Given the description of an element on the screen output the (x, y) to click on. 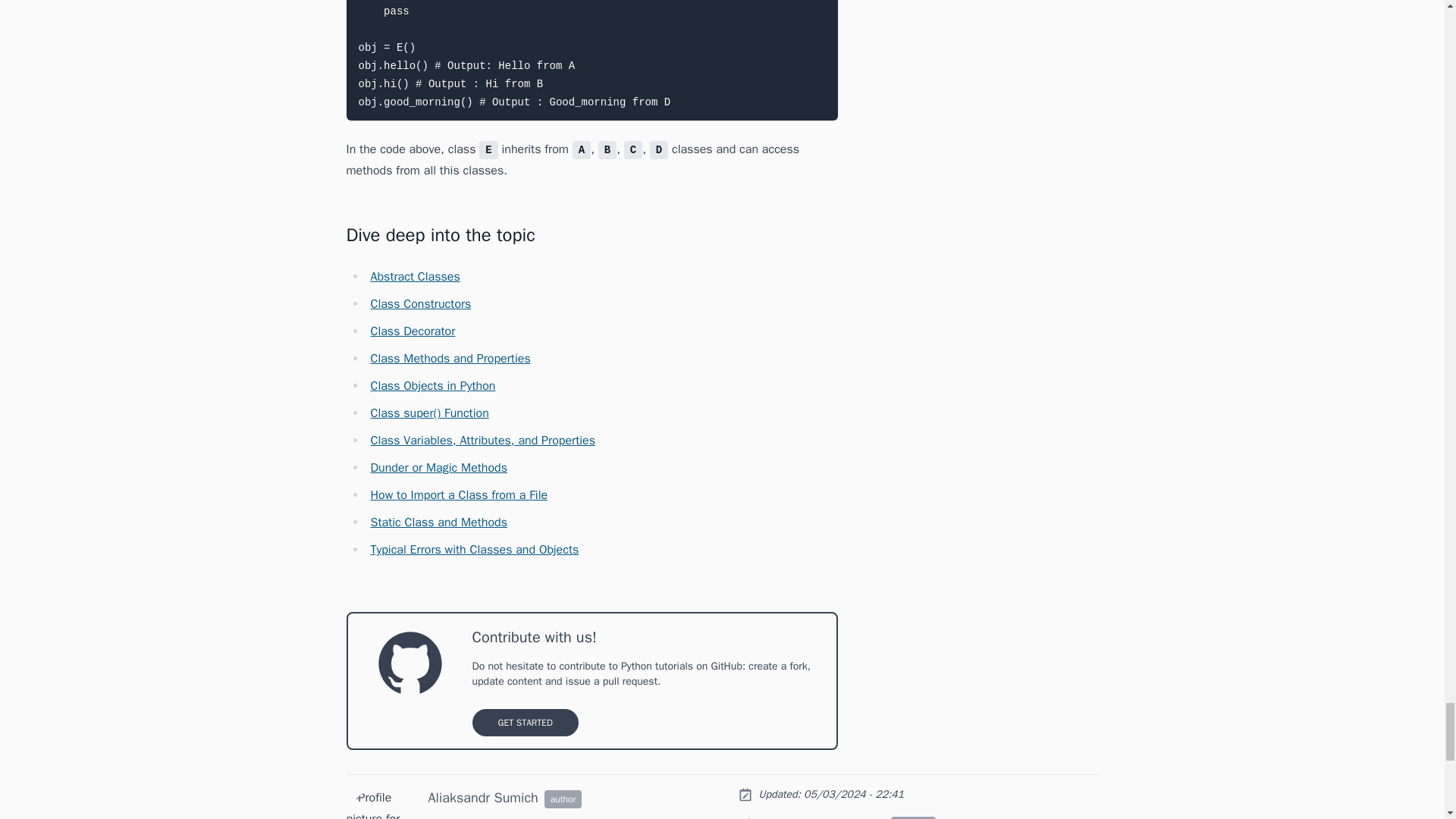
GET STARTED (524, 722)
Dunder or Magic Methods (437, 467)
Class Methods and Properties (449, 358)
Abstract Classes (414, 276)
Class Constructors (419, 304)
Class Objects in Python (432, 385)
Aliaksandr Sumich (482, 797)
Class Decorator (411, 331)
How to Import a Class from a File (458, 494)
Class Variables, Attributes, and Properties (482, 440)
Static Class and Methods (437, 522)
Typical Errors with Classes and Objects (473, 549)
Evgeniy Melnikov (838, 818)
